Given the description of an element on the screen output the (x, y) to click on. 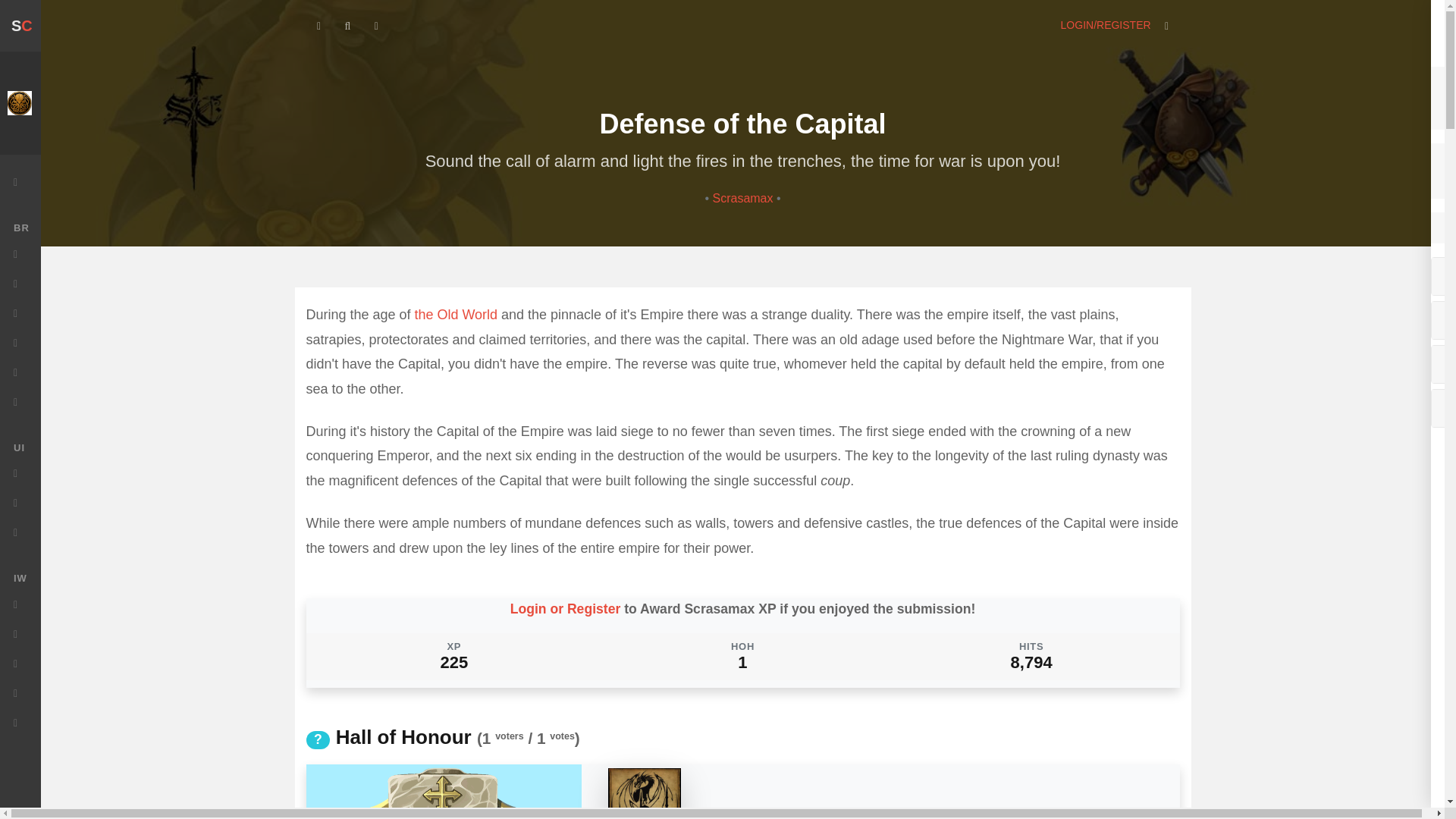
the Old World (455, 314)
Scrasamax (743, 197)
